Given the description of an element on the screen output the (x, y) to click on. 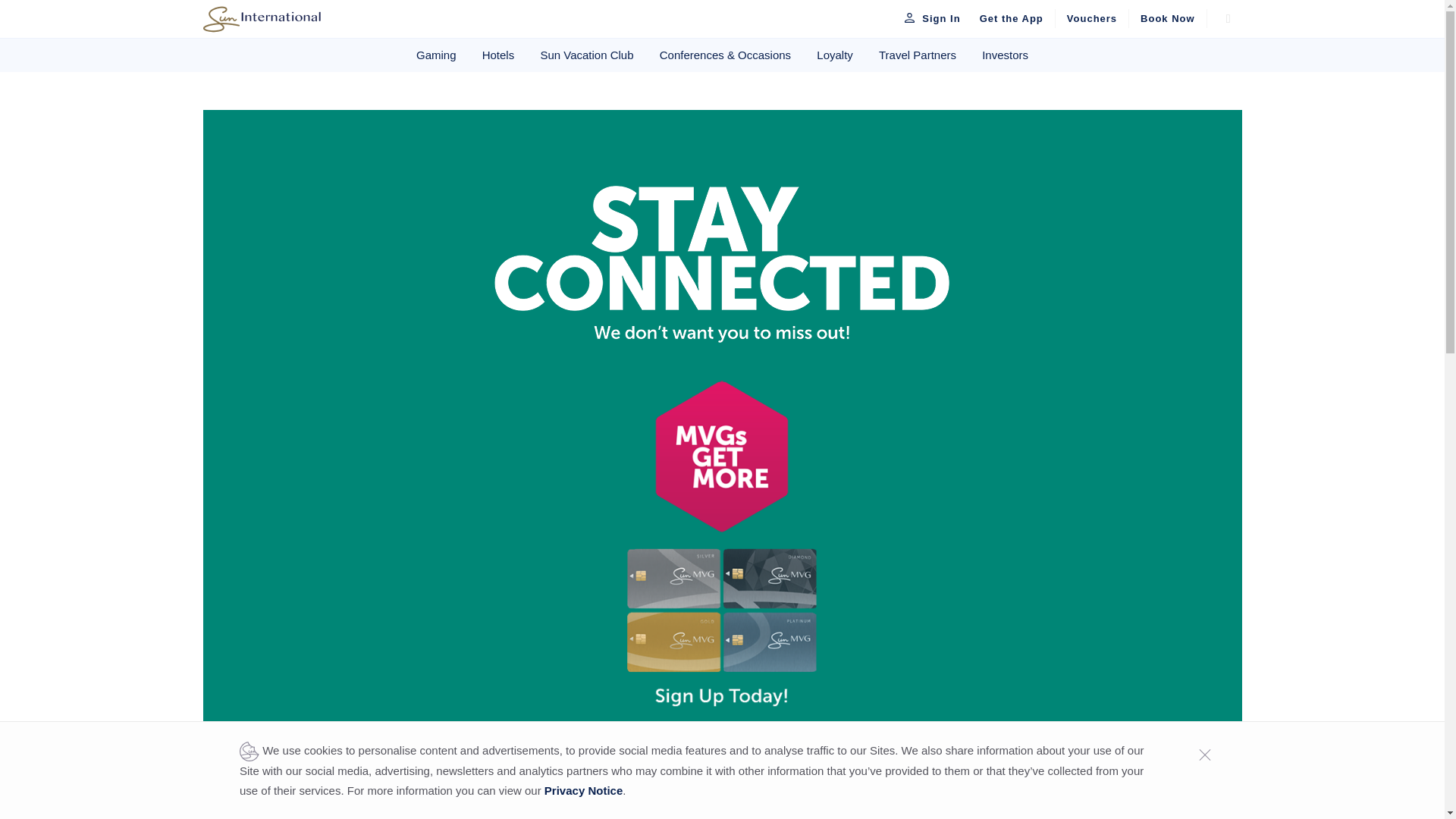
Hotels (497, 55)
Book Now (1168, 18)
Sign In (927, 18)
Vouchers (1092, 18)
Gaming (435, 55)
Privacy Notice (583, 789)
Get the App (1011, 18)
